Given the description of an element on the screen output the (x, y) to click on. 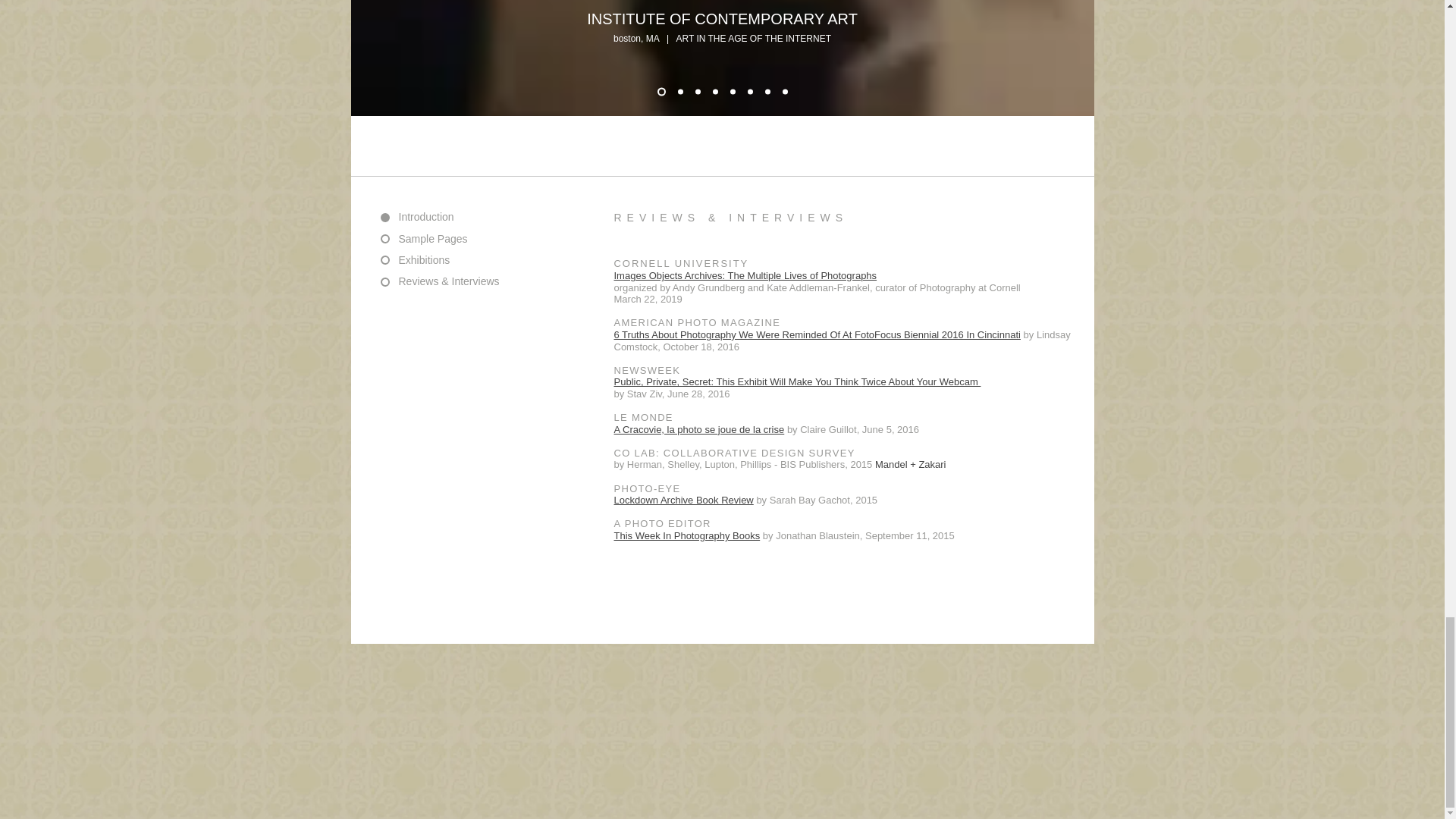
Sample Pages (440, 238)
Exhibitions (440, 260)
Images Objects Archives: The Multiple Lives of Photographs (745, 275)
Introduction (440, 217)
Lockdown Archive Book Review (684, 500)
A Cracovie, la photo se joue de la crise (699, 429)
This Week In Photography Books (687, 535)
